Given the description of an element on the screen output the (x, y) to click on. 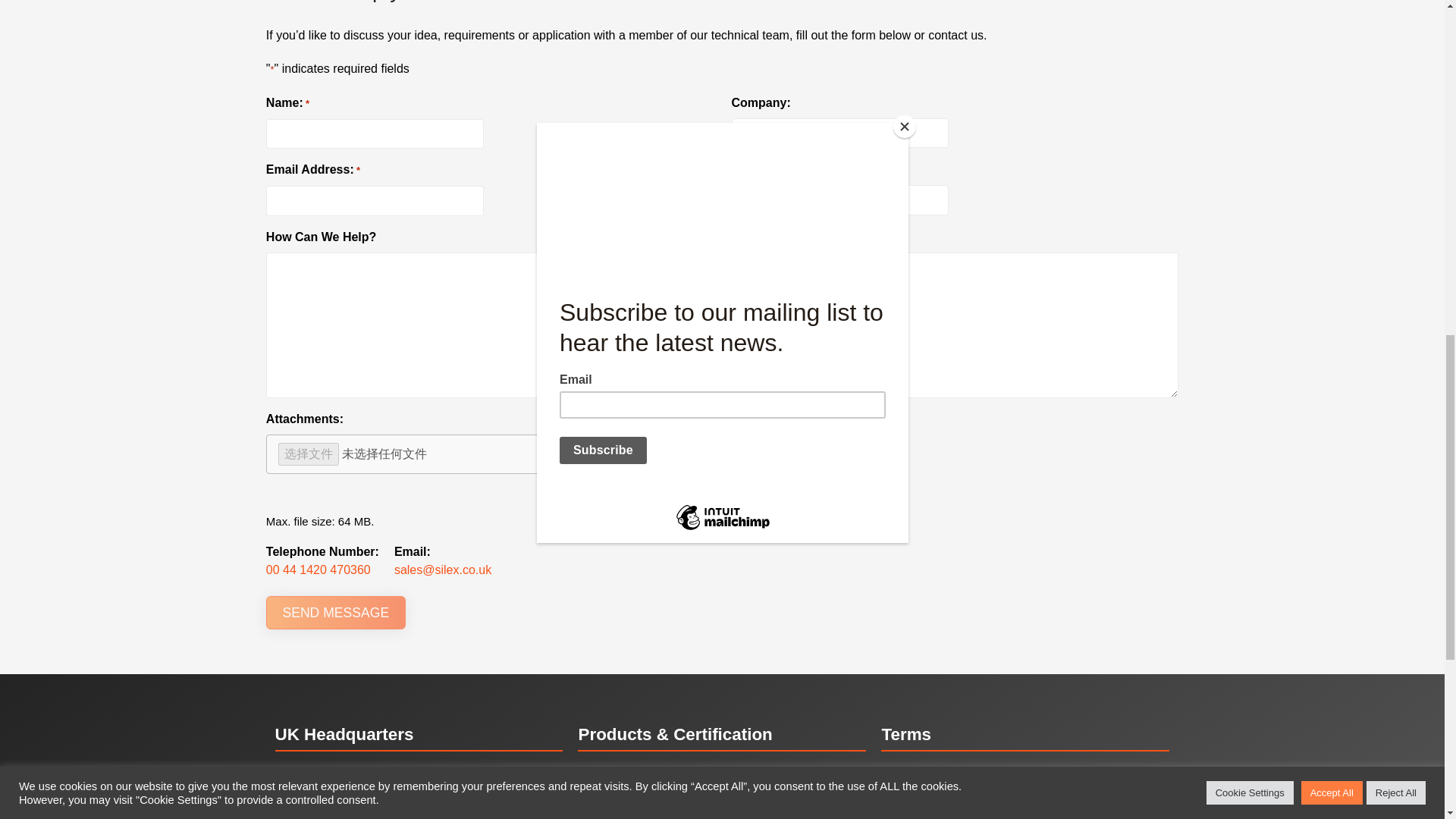
SEND MESSAGE (336, 612)
